Given the description of an element on the screen output the (x, y) to click on. 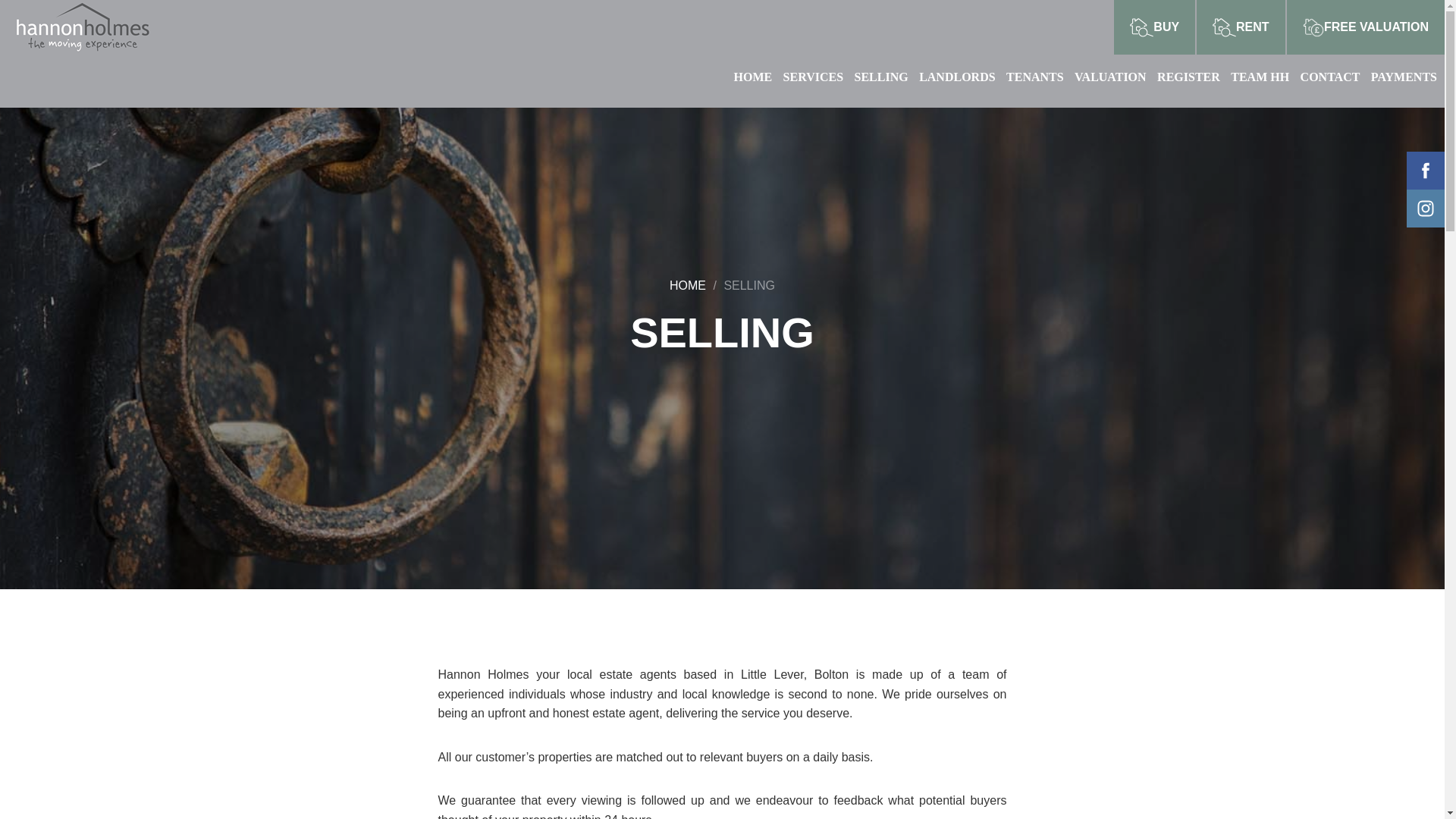
BUY (1154, 27)
SERVICES (816, 76)
SELLING (748, 285)
RENT (1240, 27)
HOME (687, 285)
CONTACT (1334, 76)
LANDLORDS (960, 76)
TENANTS (1038, 76)
TEAM HH (1263, 76)
REGISTER (1192, 76)
